Given the description of an element on the screen output the (x, y) to click on. 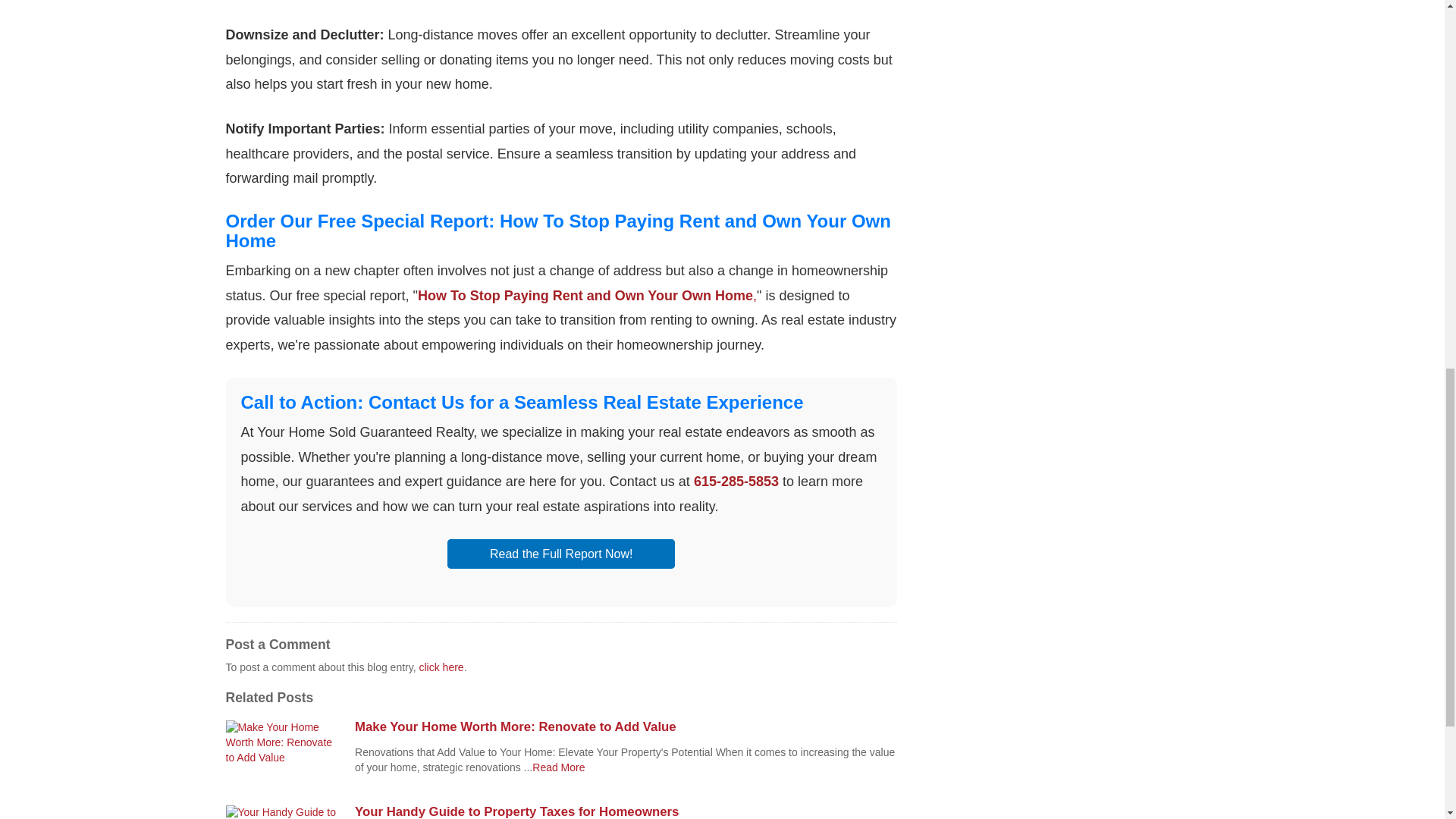
Your Handy Guide to Property Taxes for Homeowners (625, 812)
Make Your Home Worth More: Renovate to Add Value (625, 726)
Making a Long-Distance Move: What You Need to Know (558, 767)
